Given the description of an element on the screen output the (x, y) to click on. 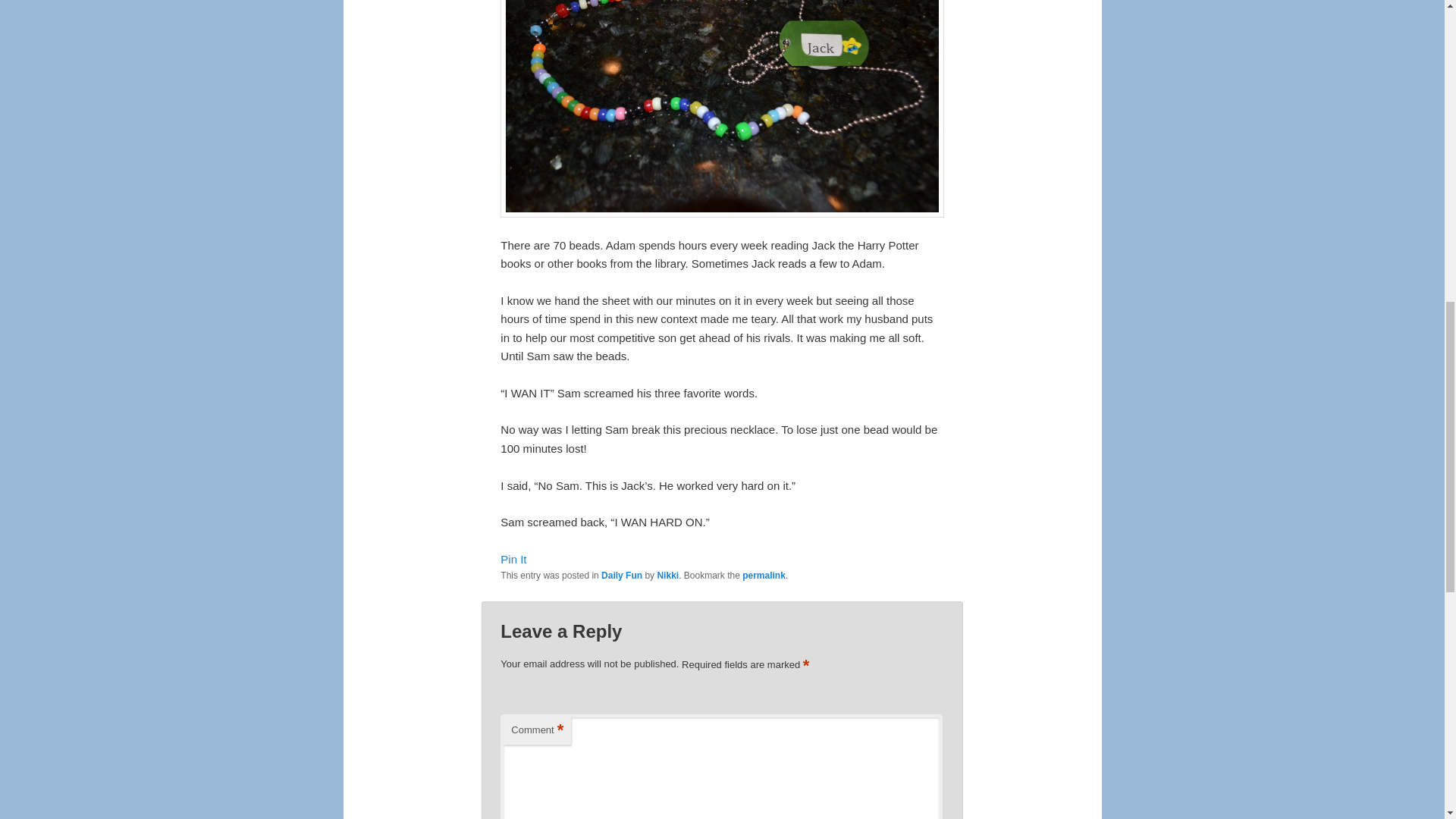
Permalink to Reading Beads (764, 575)
